Given the description of an element on the screen output the (x, y) to click on. 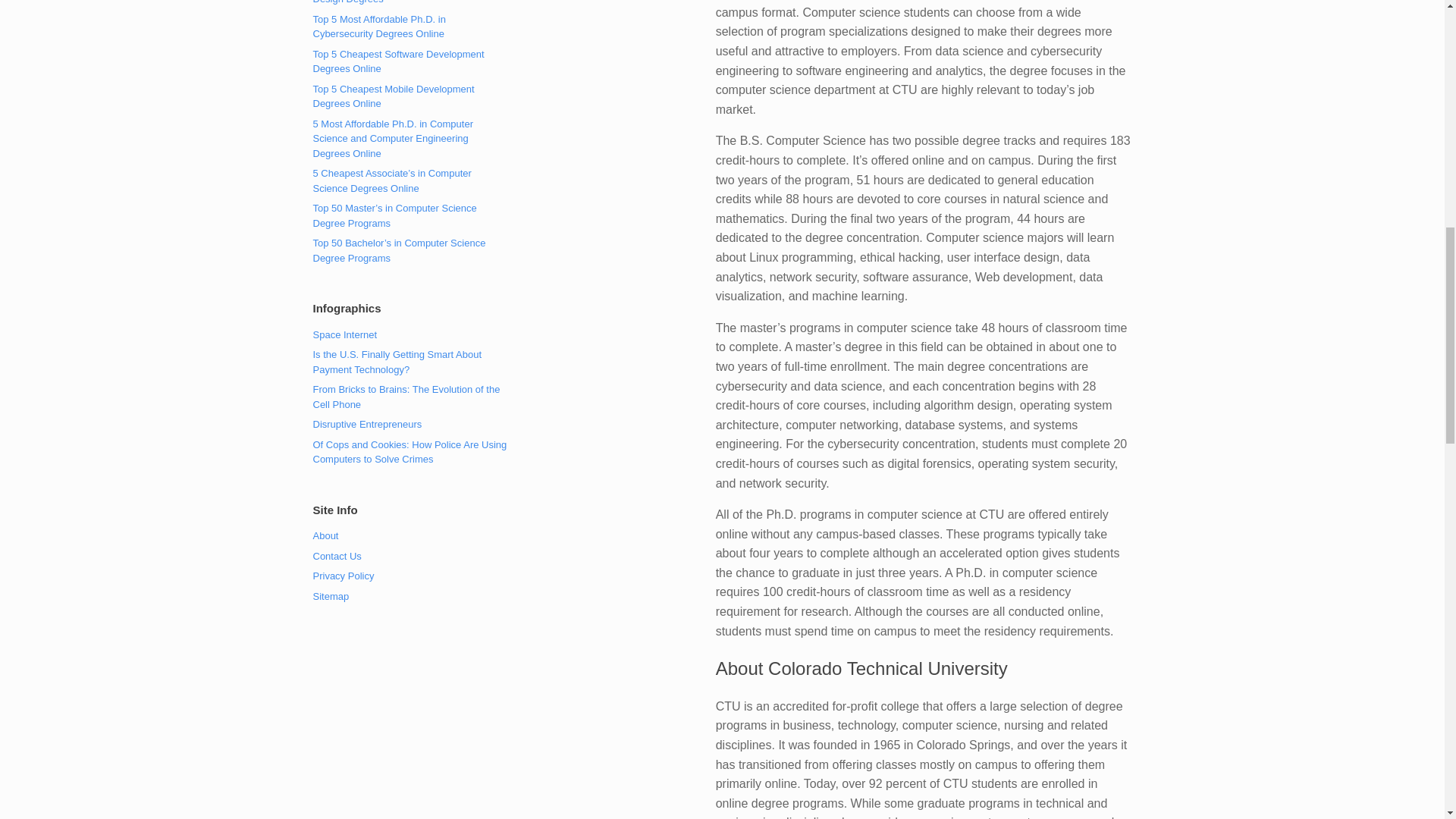
Top 5 Cheapest Mobile Development Degrees Online (393, 96)
Is the U.S. Finally Getting Smart About Payment Technology? (397, 361)
Top 5 Cheapest Software Development Degrees Online (398, 61)
Space Internet (345, 334)
Top 5 Most Affordable Ph.D. in Cybersecurity Degrees Online (379, 26)
